Given the description of an element on the screen output the (x, y) to click on. 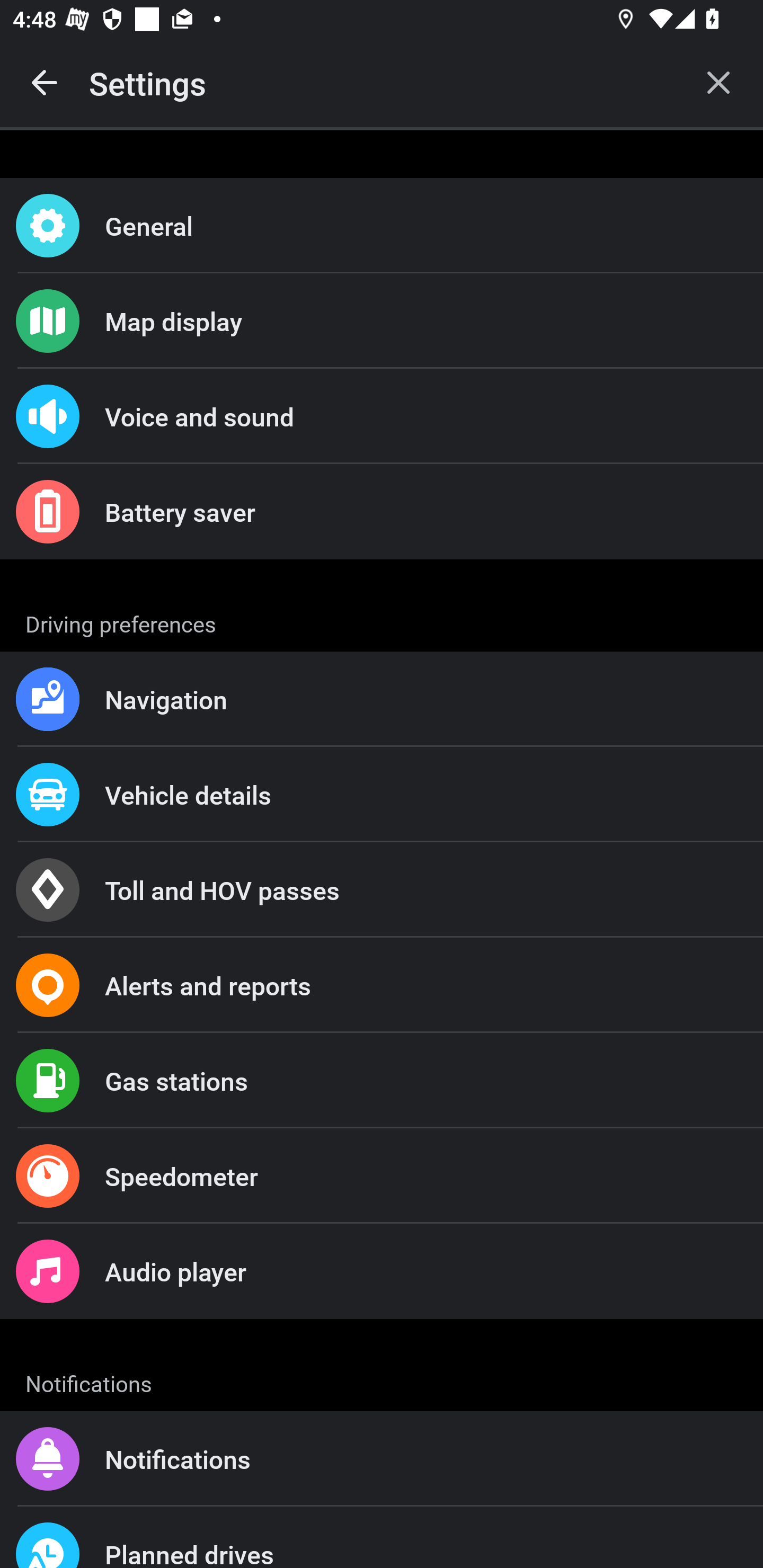
General (381, 225)
Map display (381, 320)
Voice and sound (381, 416)
Battery saver (381, 511)
ACTION_CELL_ICON Settings ACTION_CELL_TEXT (381, 620)
Navigation (381, 699)
Vehicle details (381, 794)
Toll and HOV passes (381, 889)
Alerts and reports (381, 985)
Gas stations (381, 1080)
Speedometer (381, 1175)
Audio player (381, 1270)
Times Square Times Square, Manhattan, New York (381, 1368)
Notifications (381, 1458)
